Given the description of an element on the screen output the (x, y) to click on. 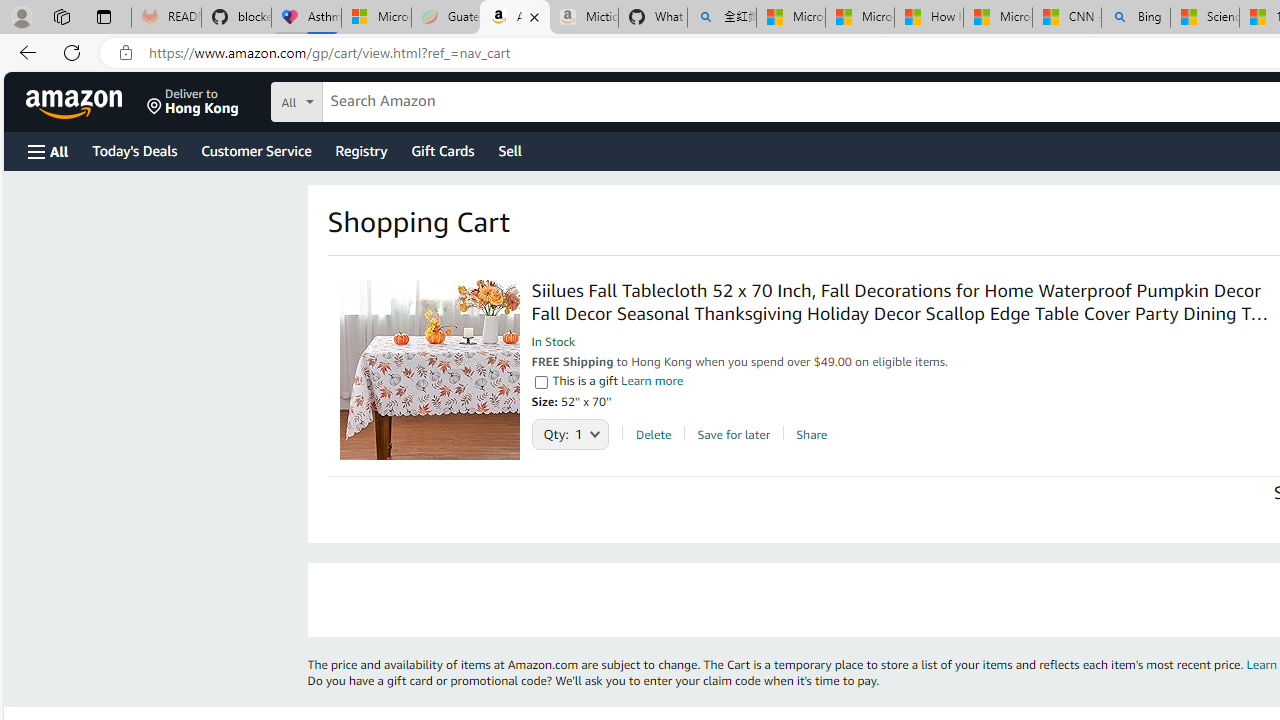
Today's Deals (134, 150)
Open Menu (48, 151)
Amazon (76, 101)
Amazon.com Shopping Cart (515, 17)
CNN - MSN (1066, 17)
